Given the description of an element on the screen output the (x, y) to click on. 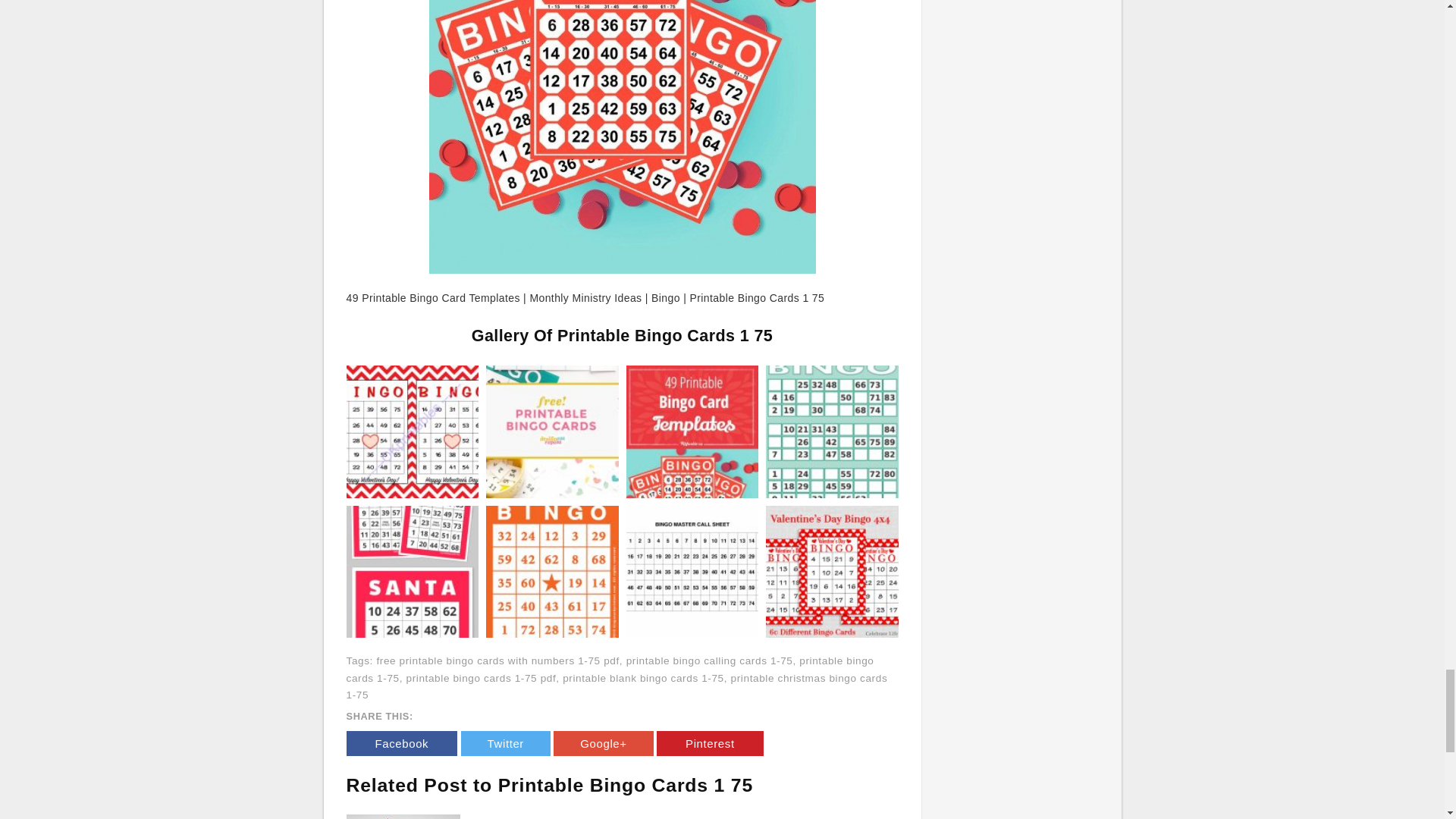
printable bingo cards 1-75 (609, 669)
printable bingo calling cards 1-75 (709, 660)
printable bingo cards 1-75 pdf (481, 677)
printable christmas bingo cards 1-75 (616, 686)
printable blank bingo cards 1-75 (642, 677)
Facebook (401, 743)
Pinterest (709, 743)
free printable bingo cards with numbers 1-75 pdf (496, 660)
Twitter (505, 743)
